Given the description of an element on the screen output the (x, y) to click on. 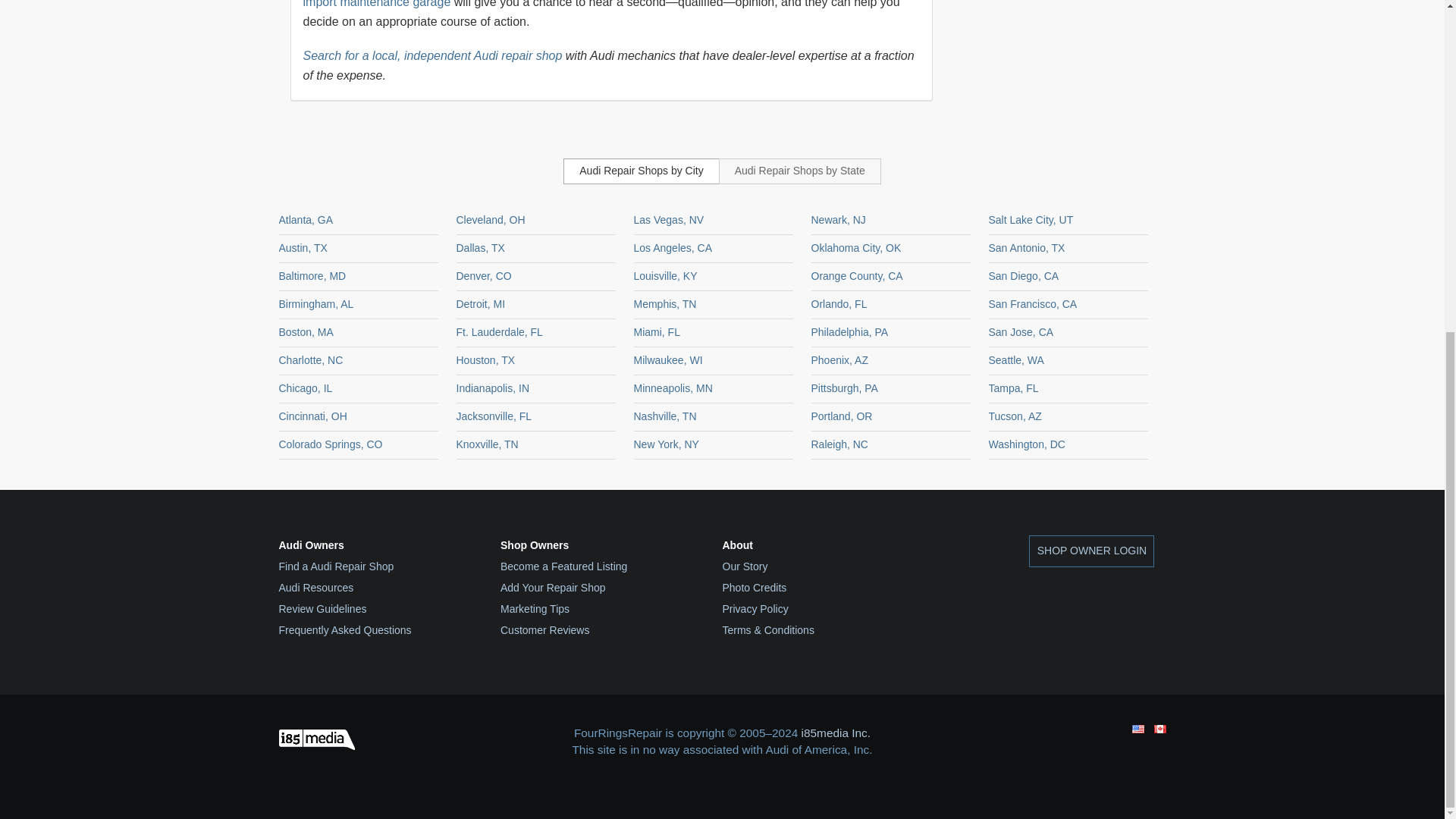
Indianapolis, IN (493, 387)
Las Vegas, NV (668, 219)
Baltimore, MD (312, 275)
Austin, TX (303, 247)
Cincinnati, OH (313, 416)
Louisville, KY (665, 275)
Miami, FL (656, 331)
Detroit, MI (481, 304)
Cleveland, OH (491, 219)
specialized German import maintenance garage (607, 4)
Ft. Lauderdale, FL (500, 331)
Los Angeles, CA (673, 247)
Birmingham, AL (316, 304)
Chicago, IL (306, 387)
Memphis, TN (665, 304)
